Given the description of an element on the screen output the (x, y) to click on. 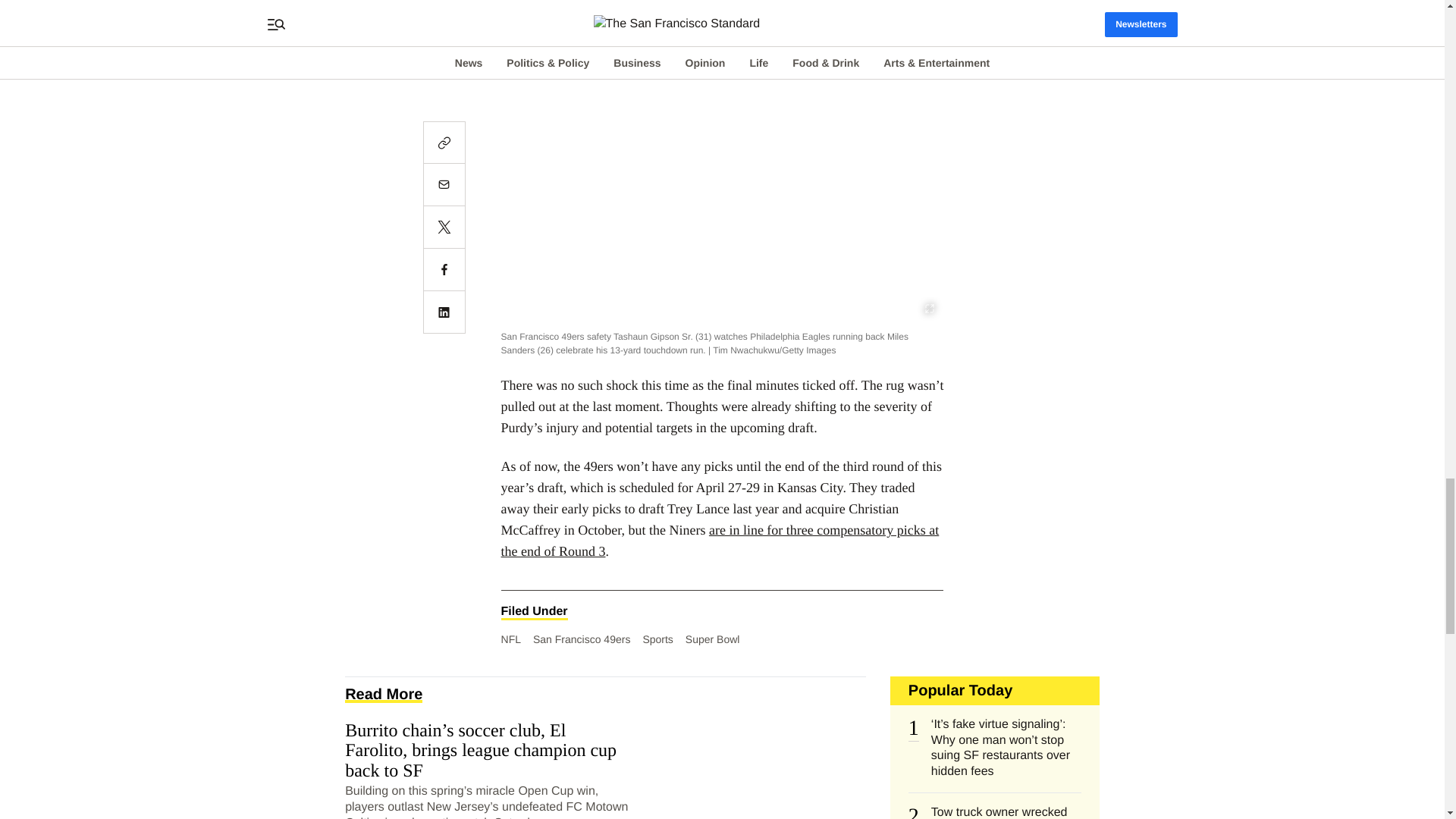
Sports (657, 639)
another blown playoff lead for head coach Kyle Shanahan (701, 2)
San Francisco 49ers (581, 639)
Super Bowl (712, 639)
NFL (510, 639)
